Given the description of an element on the screen output the (x, y) to click on. 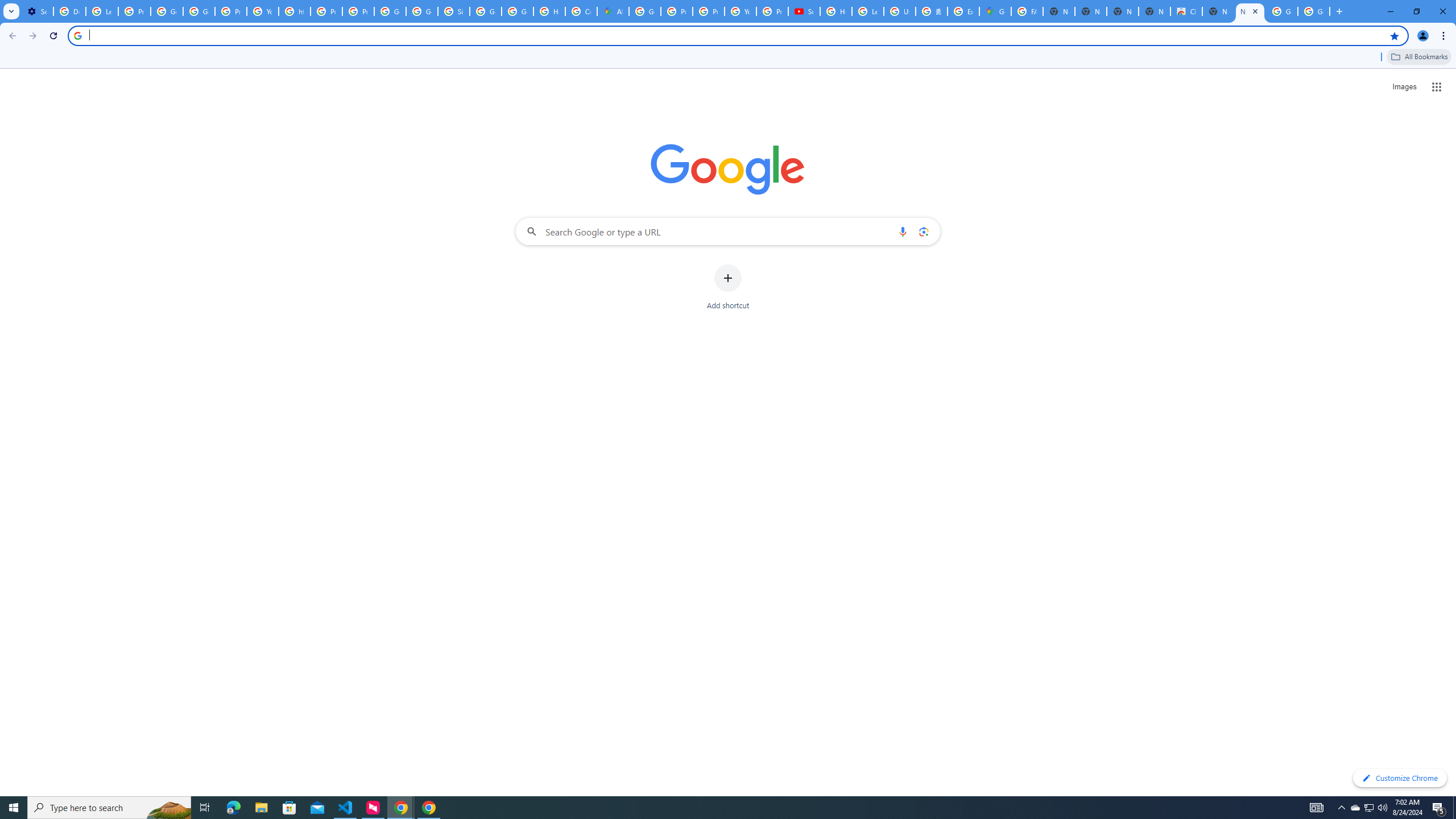
Privacy Help Center - Policies Help (676, 11)
Google Maps (995, 11)
Delete photos & videos - Computer - Google Photos Help (69, 11)
Chrome Web Store (1185, 11)
New Tab (1217, 11)
YouTube (262, 11)
